Given the description of an element on the screen output the (x, y) to click on. 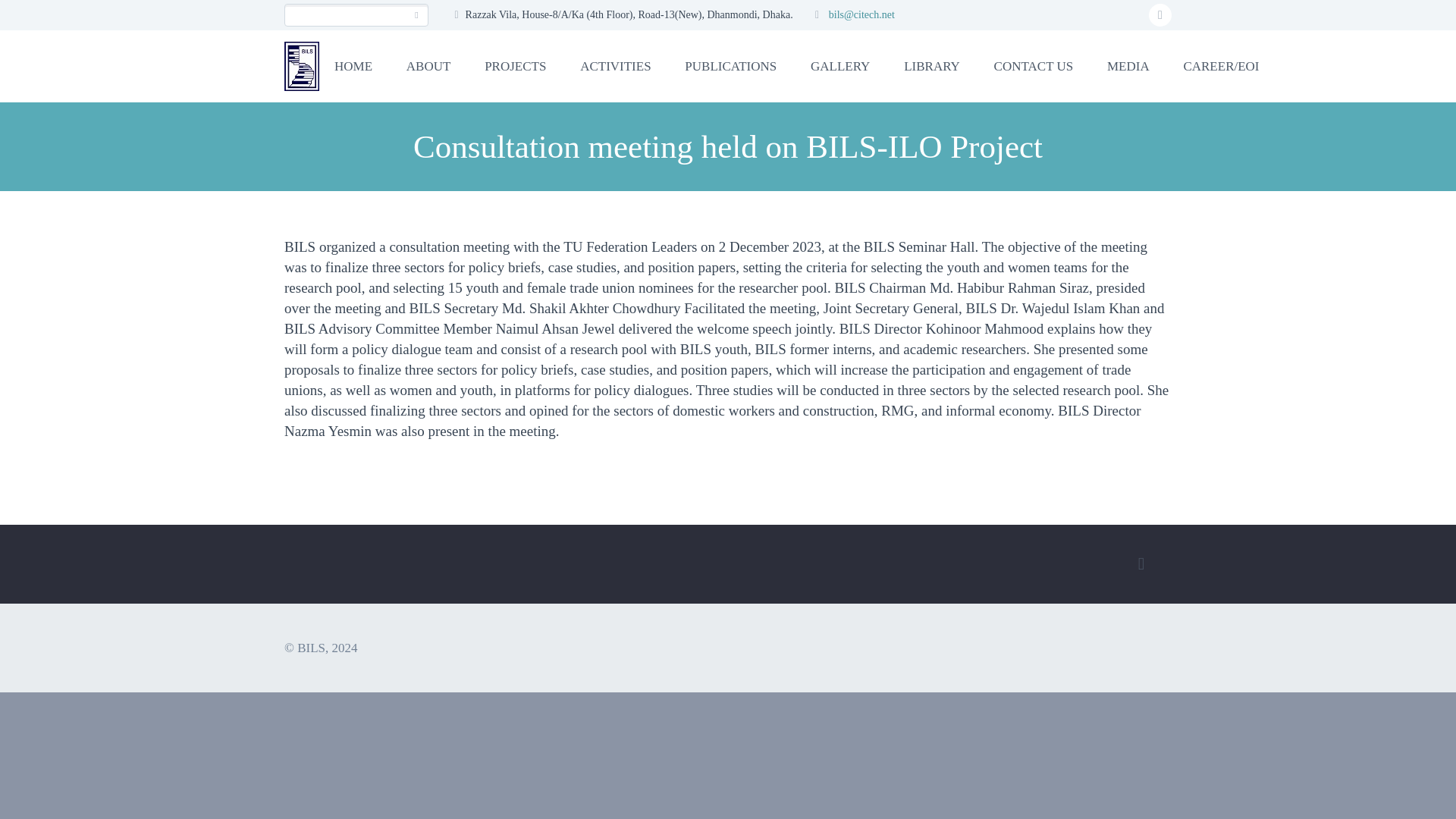
PROJECTS (514, 65)
Search (417, 15)
ABOUT (428, 65)
facebook (1141, 564)
ACTIVITIES (614, 65)
HOME (352, 65)
facebook (1160, 15)
facebook (1160, 15)
